Given the description of an element on the screen output the (x, y) to click on. 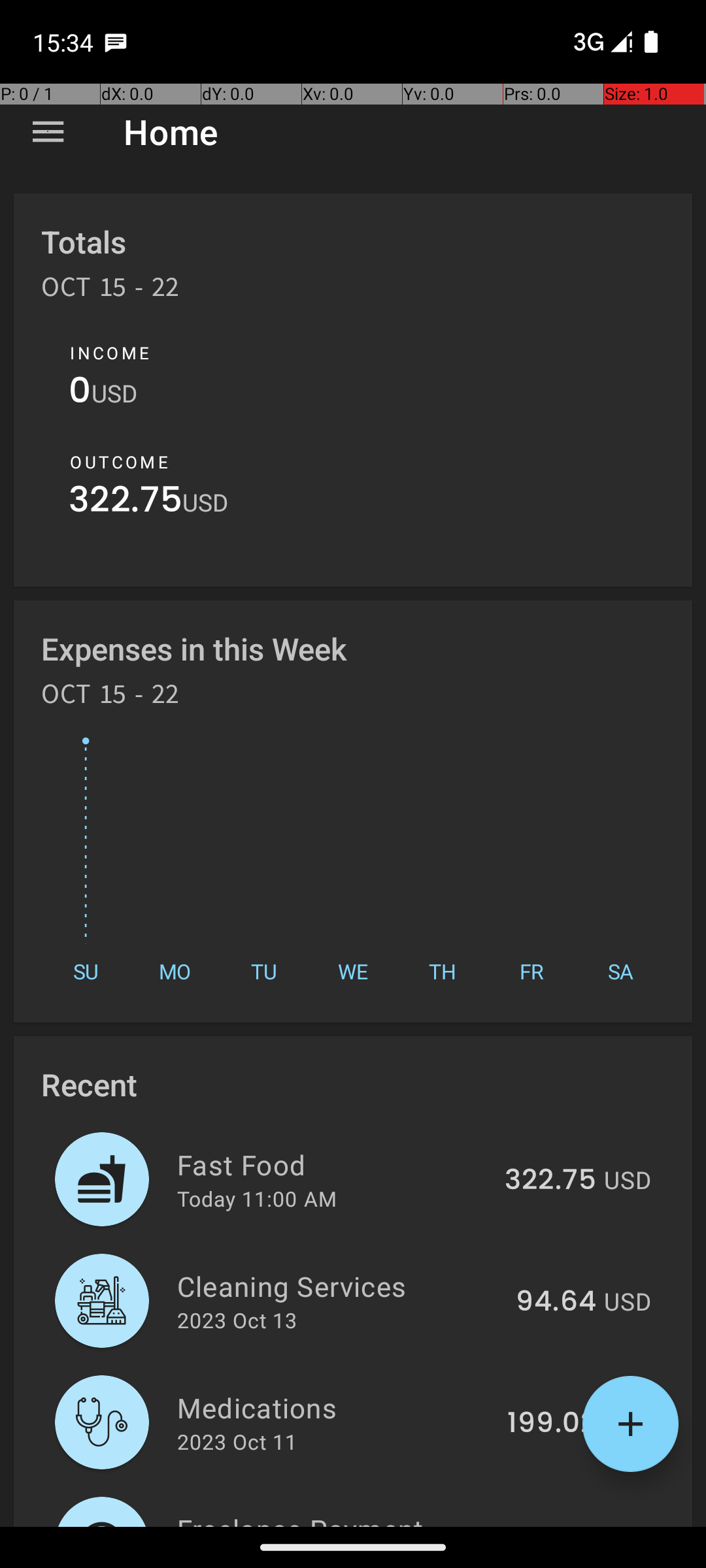
322.75 Element type: android.widget.TextView (125, 502)
Fast Food Element type: android.widget.TextView (333, 1164)
Today 11:00 AM Element type: android.widget.TextView (256, 1198)
Cleaning Services Element type: android.widget.TextView (338, 1285)
2023 Oct 13 Element type: android.widget.TextView (236, 1320)
94.64 Element type: android.widget.TextView (555, 1301)
Medications Element type: android.widget.TextView (334, 1407)
2023 Oct 11 Element type: android.widget.TextView (236, 1441)
199.02 Element type: android.widget.TextView (551, 1423)
Freelance Payment Element type: android.widget.TextView (333, 1518)
237.82 Element type: android.widget.TextView (550, 1524)
